Given the description of an element on the screen output the (x, y) to click on. 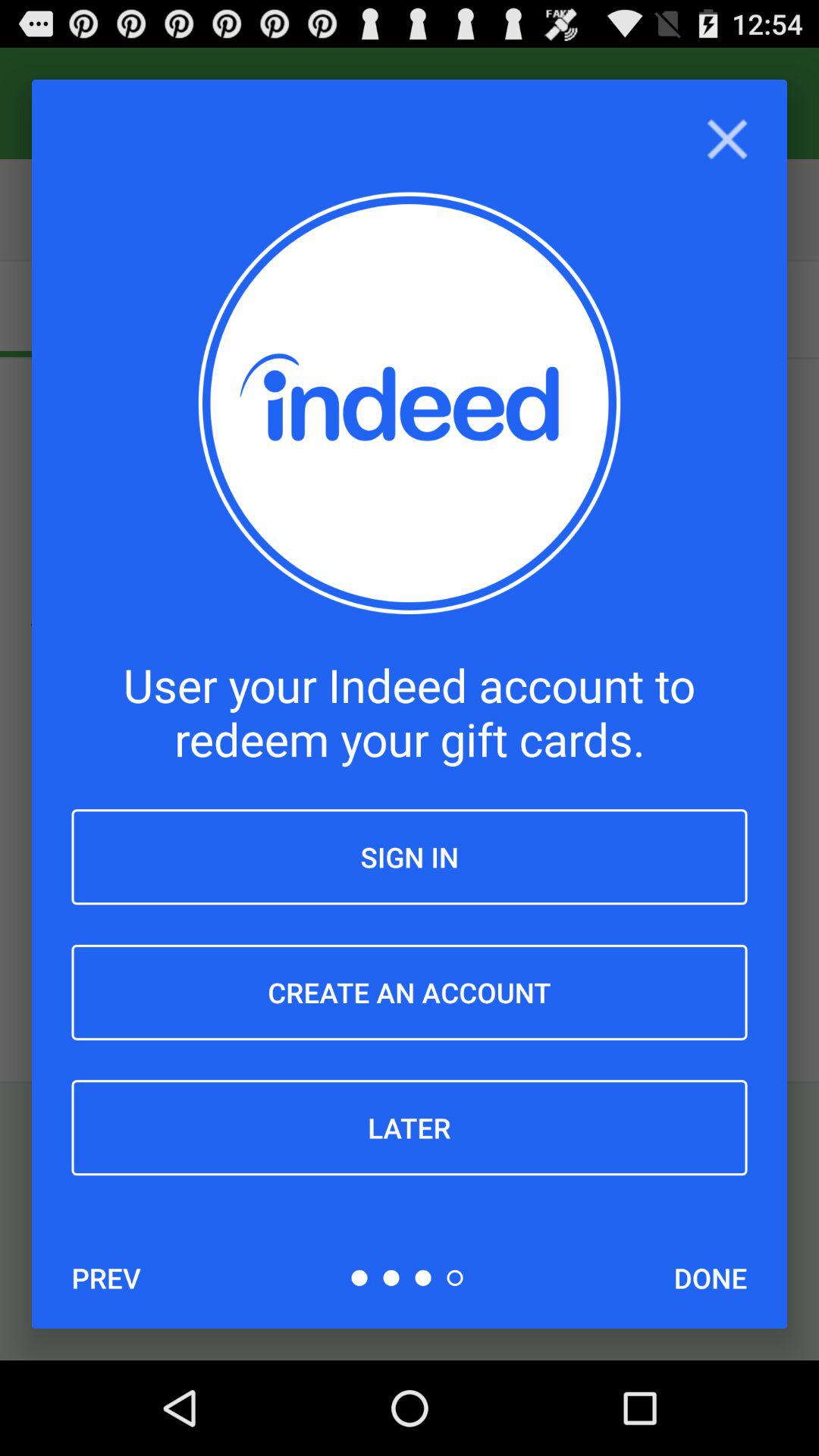
press item below sign in icon (409, 992)
